Given the description of an element on the screen output the (x, y) to click on. 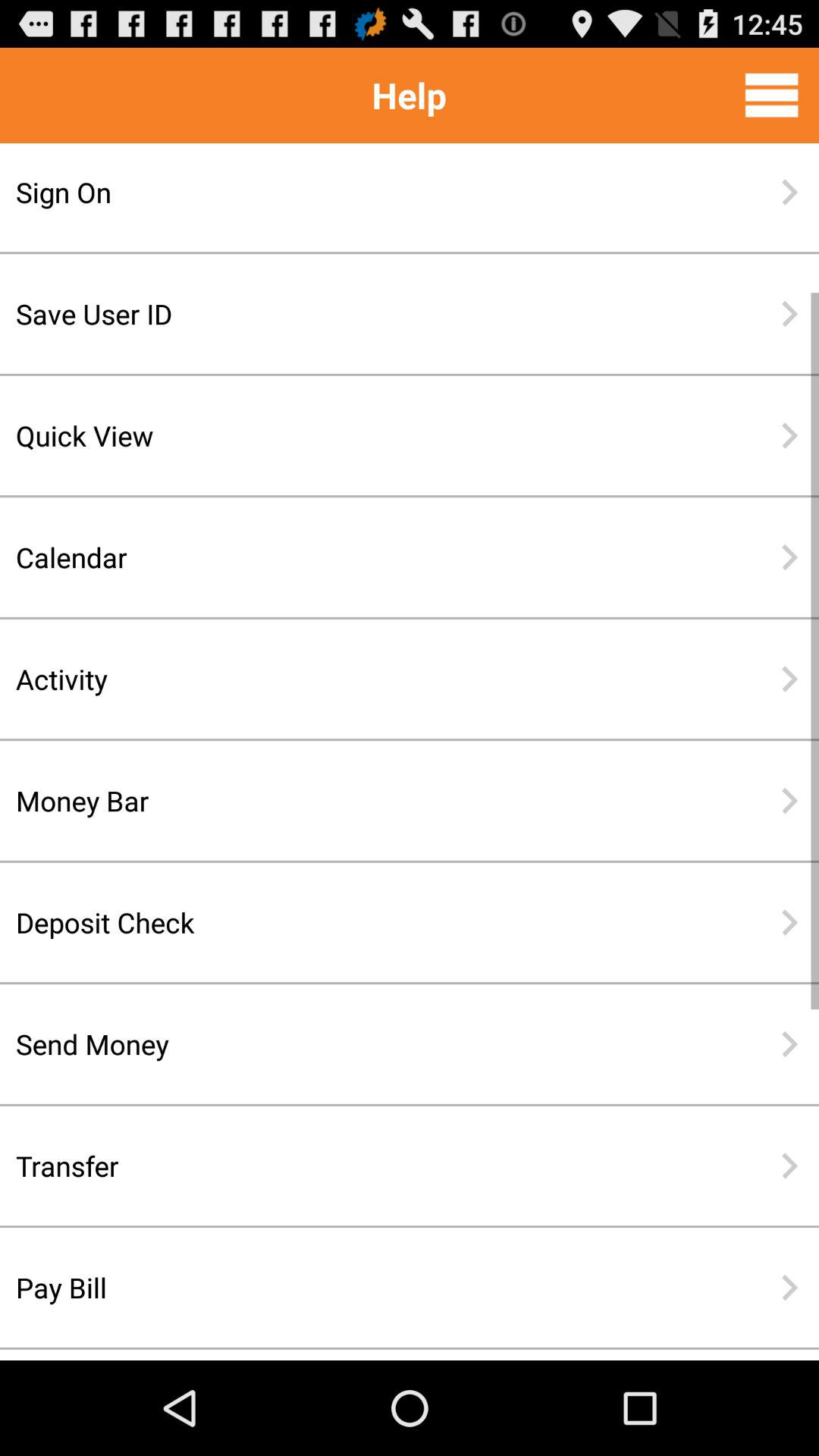
choose item next to pay bill (789, 1287)
